Given the description of an element on the screen output the (x, y) to click on. 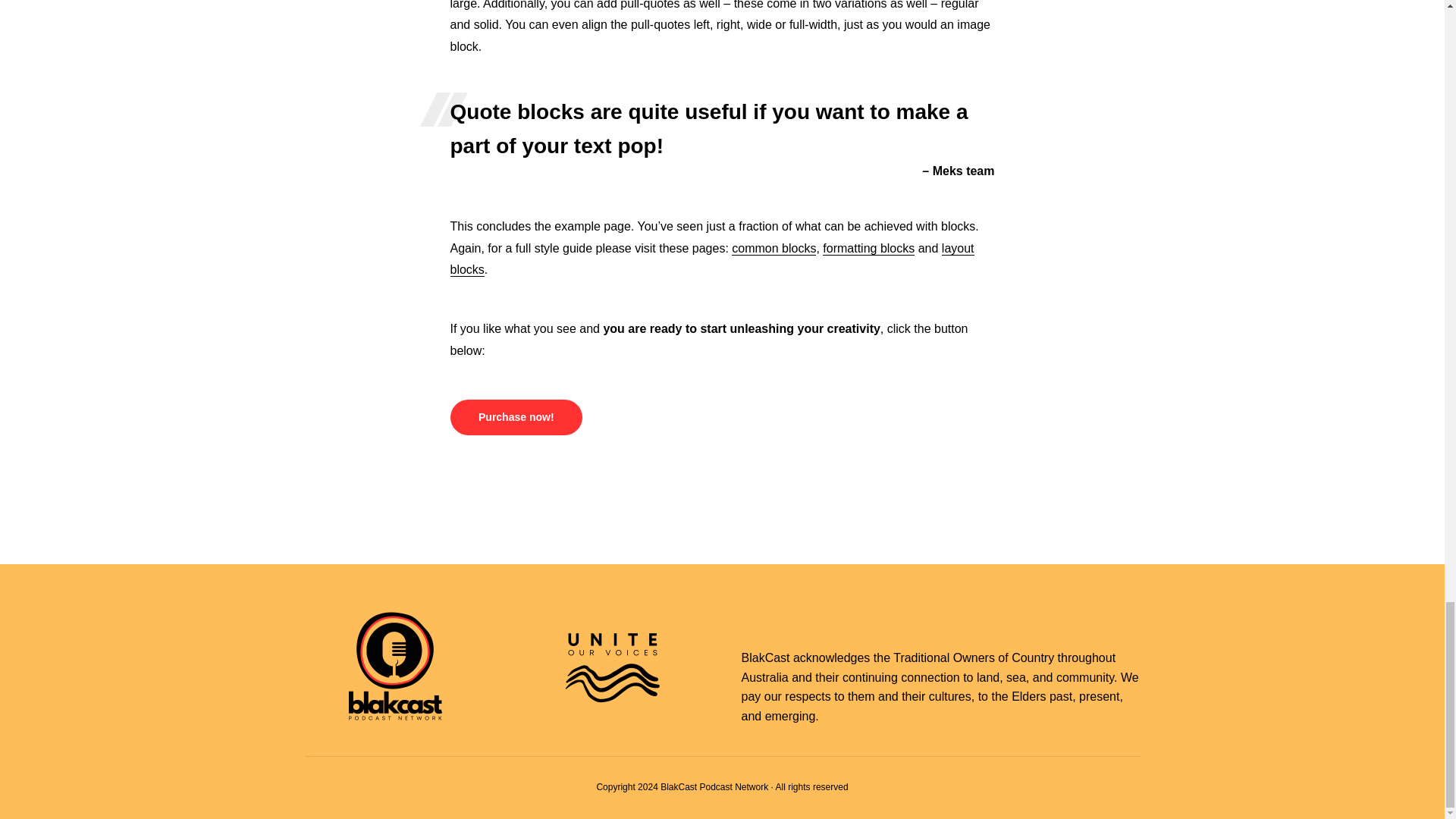
formatting blocks (868, 247)
layout blocks (711, 258)
Purchase now! (516, 416)
common blocks (773, 247)
